Given the description of an element on the screen output the (x, y) to click on. 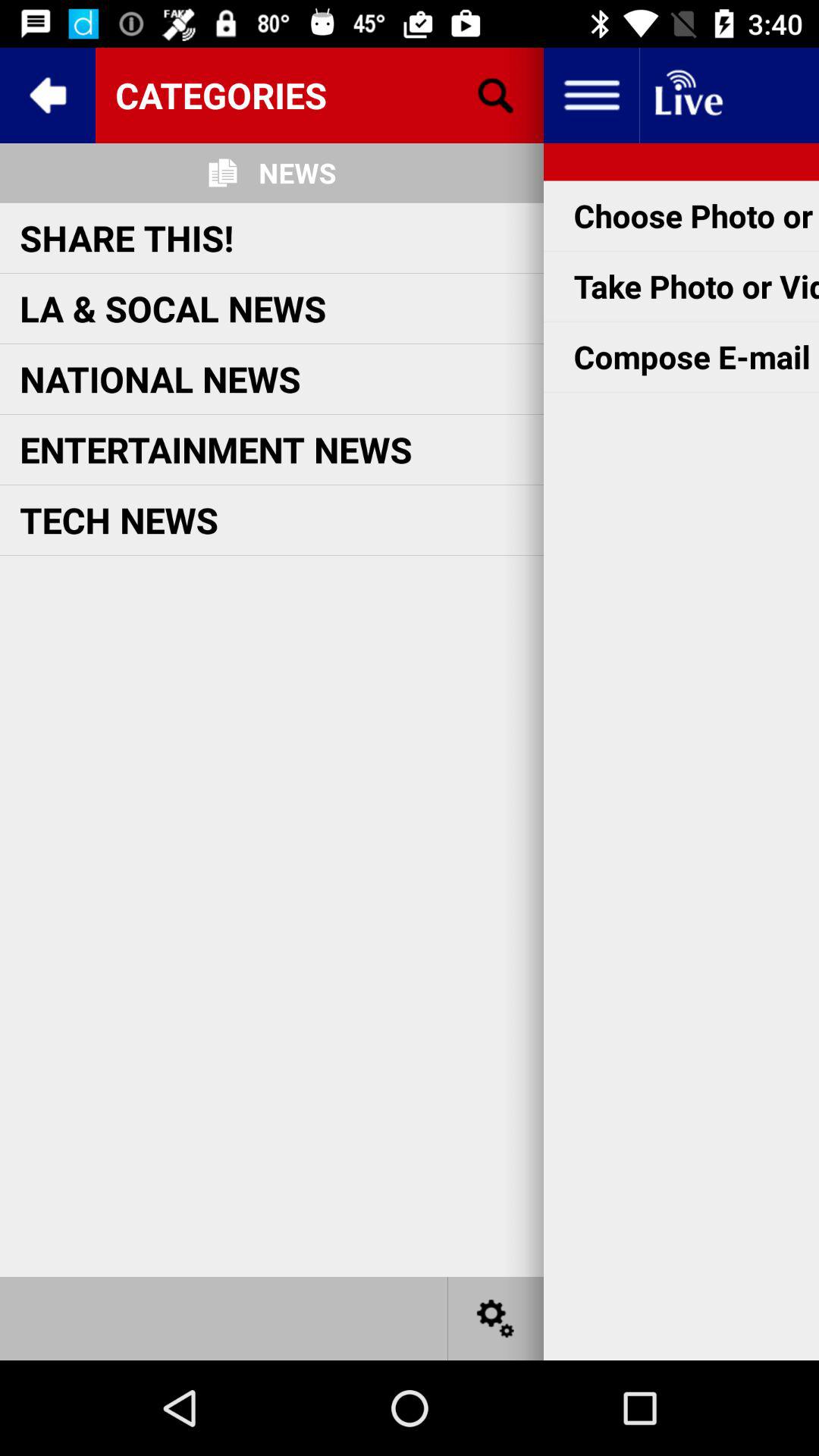
turn off the item above the choose photo or (687, 95)
